Given the description of an element on the screen output the (x, y) to click on. 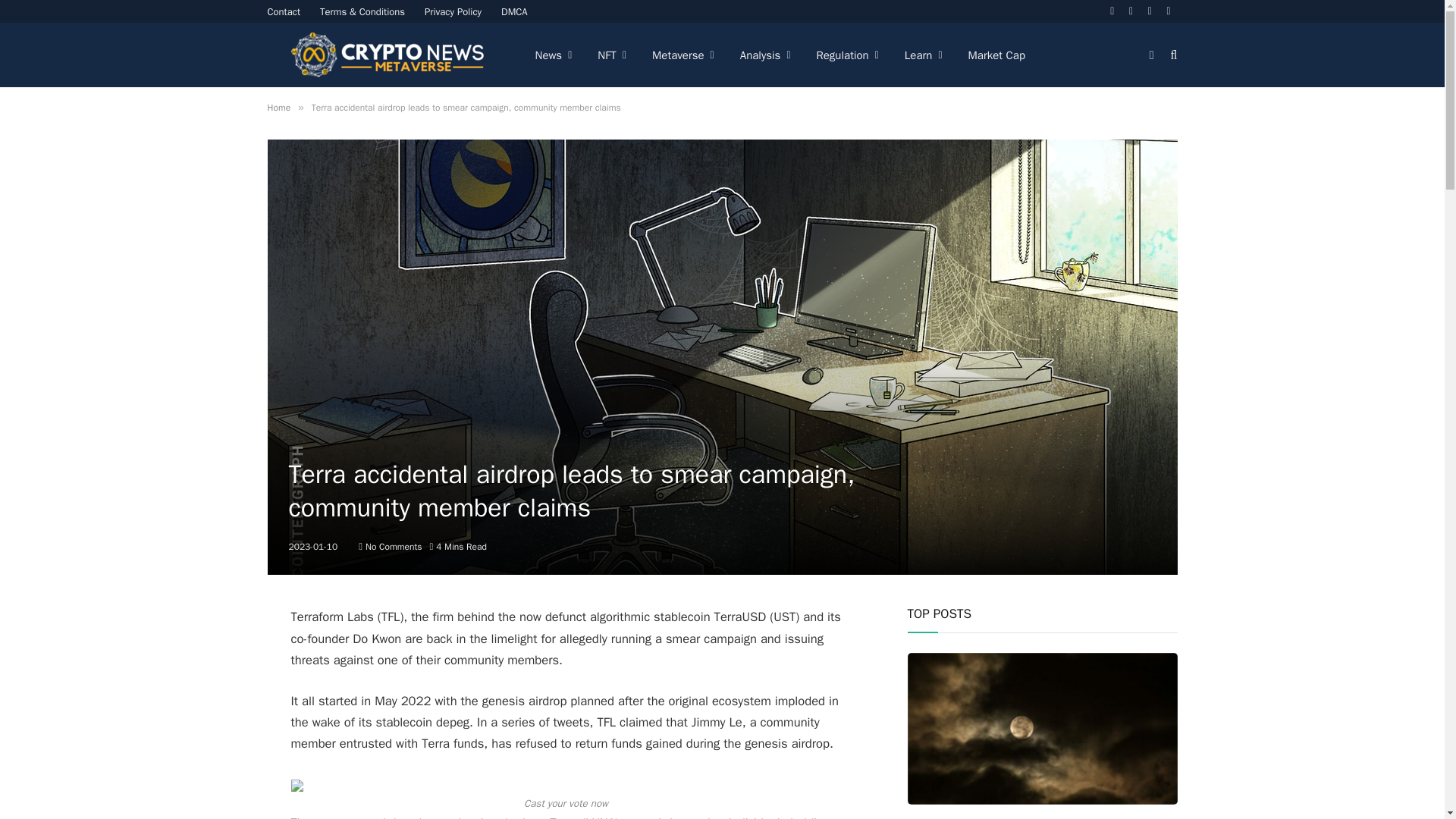
Contact (284, 11)
NFT (612, 54)
DMCA (514, 11)
News (553, 54)
YouTube (1168, 11)
Facebook (1112, 11)
TikTok (1131, 11)
CryptoNewsMetaverse (388, 54)
Instagram (1149, 11)
Privacy Policy (453, 11)
